Given the description of an element on the screen output the (x, y) to click on. 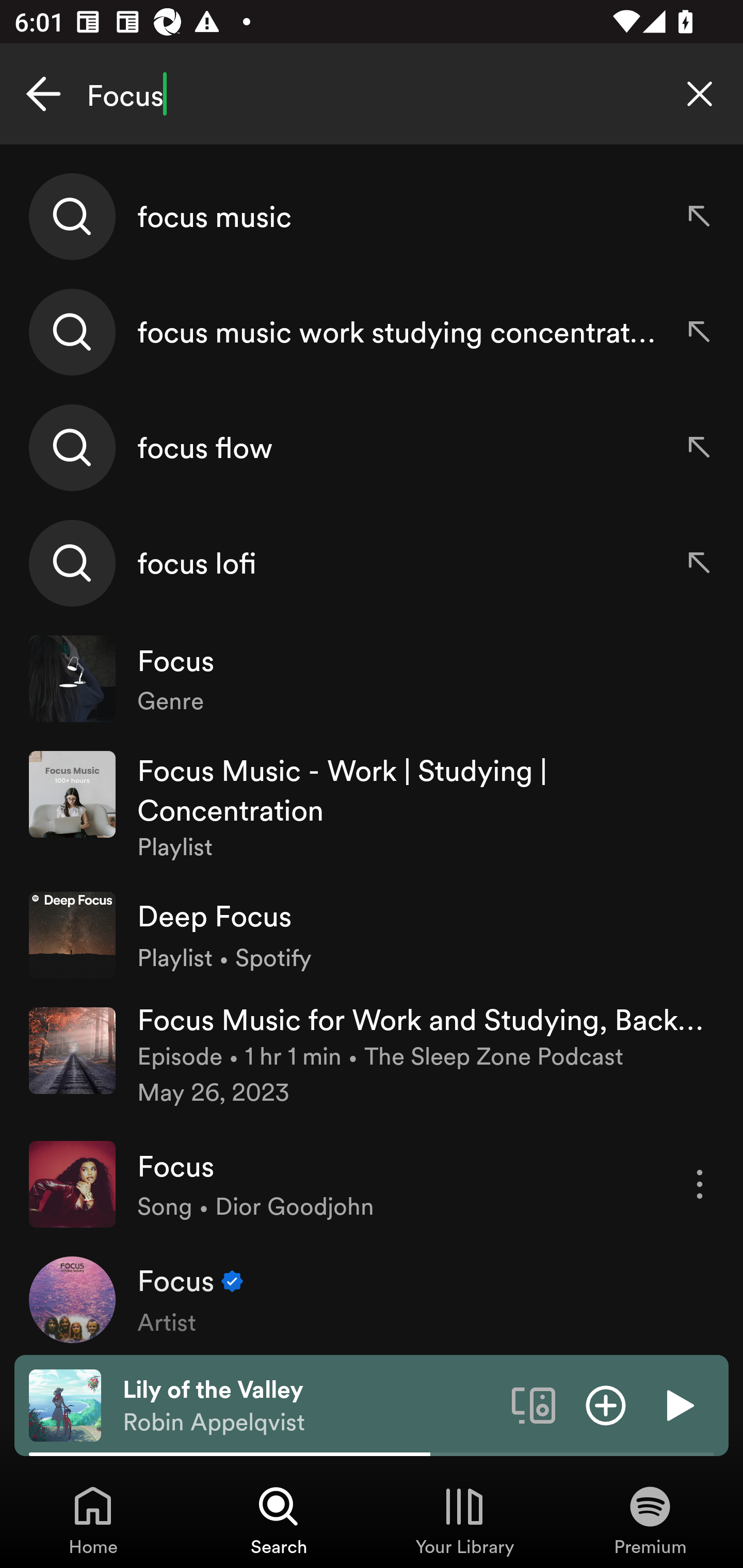
Focus (371, 93)
Cancel (43, 93)
Clear search query (699, 93)
focus music (371, 216)
focus music work studying concentration (371, 332)
focus flow (371, 447)
focus lofi (371, 562)
Focus Genre (371, 678)
Deep Focus Playlist • Spotify (371, 935)
More options for song Focus (699, 1184)
Focus Verified Artist (371, 1297)
Lily of the Valley Robin Appelqvist (309, 1405)
The cover art of the currently playing track (64, 1404)
Connect to a device. Opens the devices menu (533, 1404)
Add item (605, 1404)
Play (677, 1404)
Home, Tab 1 of 4 Home Home (92, 1519)
Search, Tab 2 of 4 Search Search (278, 1519)
Your Library, Tab 3 of 4 Your Library Your Library (464, 1519)
Premium, Tab 4 of 4 Premium Premium (650, 1519)
